Given the description of an element on the screen output the (x, y) to click on. 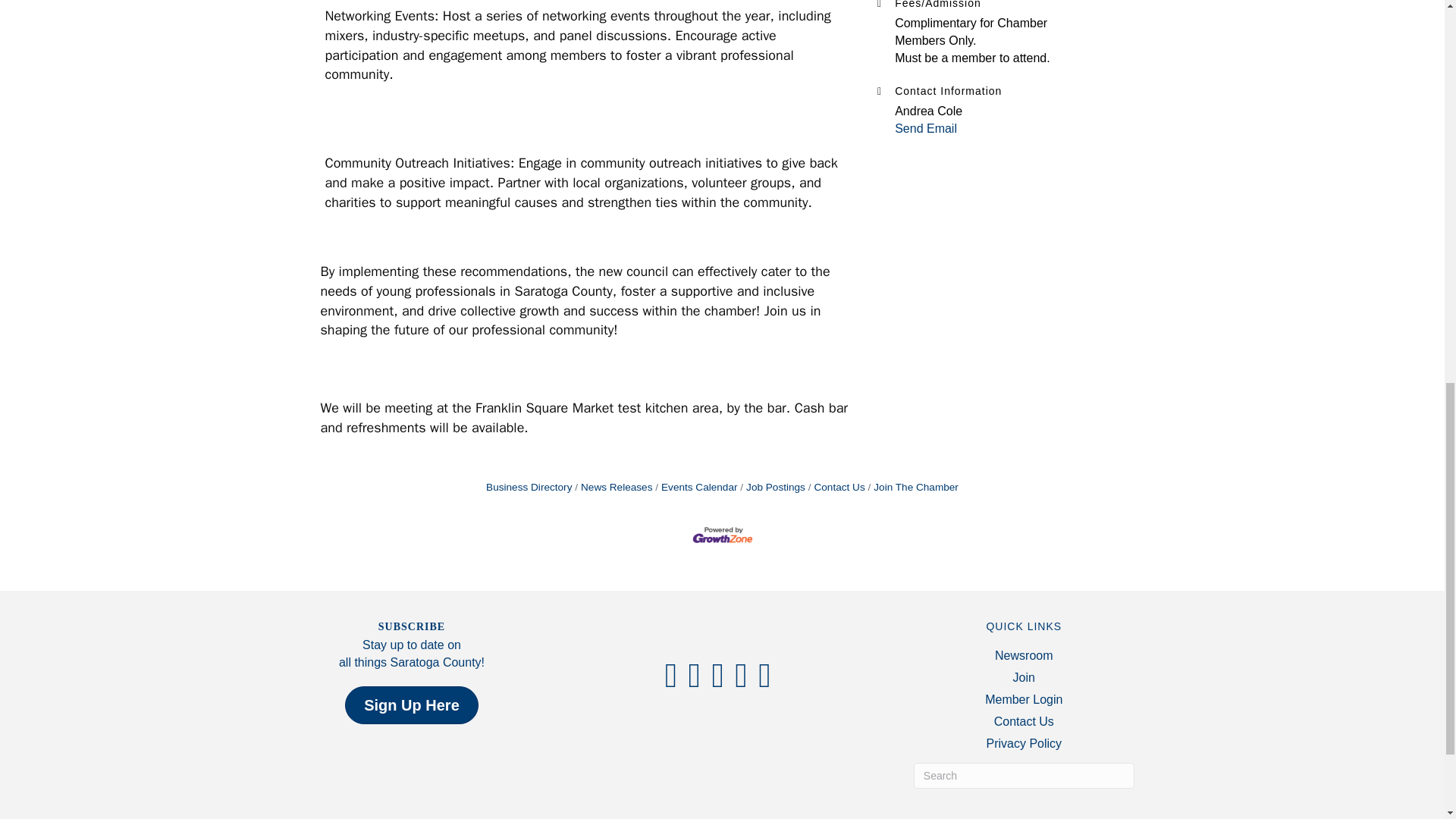
Send Email (925, 128)
Job Postings (772, 487)
Events Calendar (695, 487)
Type and press Enter to search. (1024, 775)
Business Directory (529, 487)
News Releases (613, 487)
Join The Chamber (912, 487)
Contact Us (836, 487)
